Given the description of an element on the screen output the (x, y) to click on. 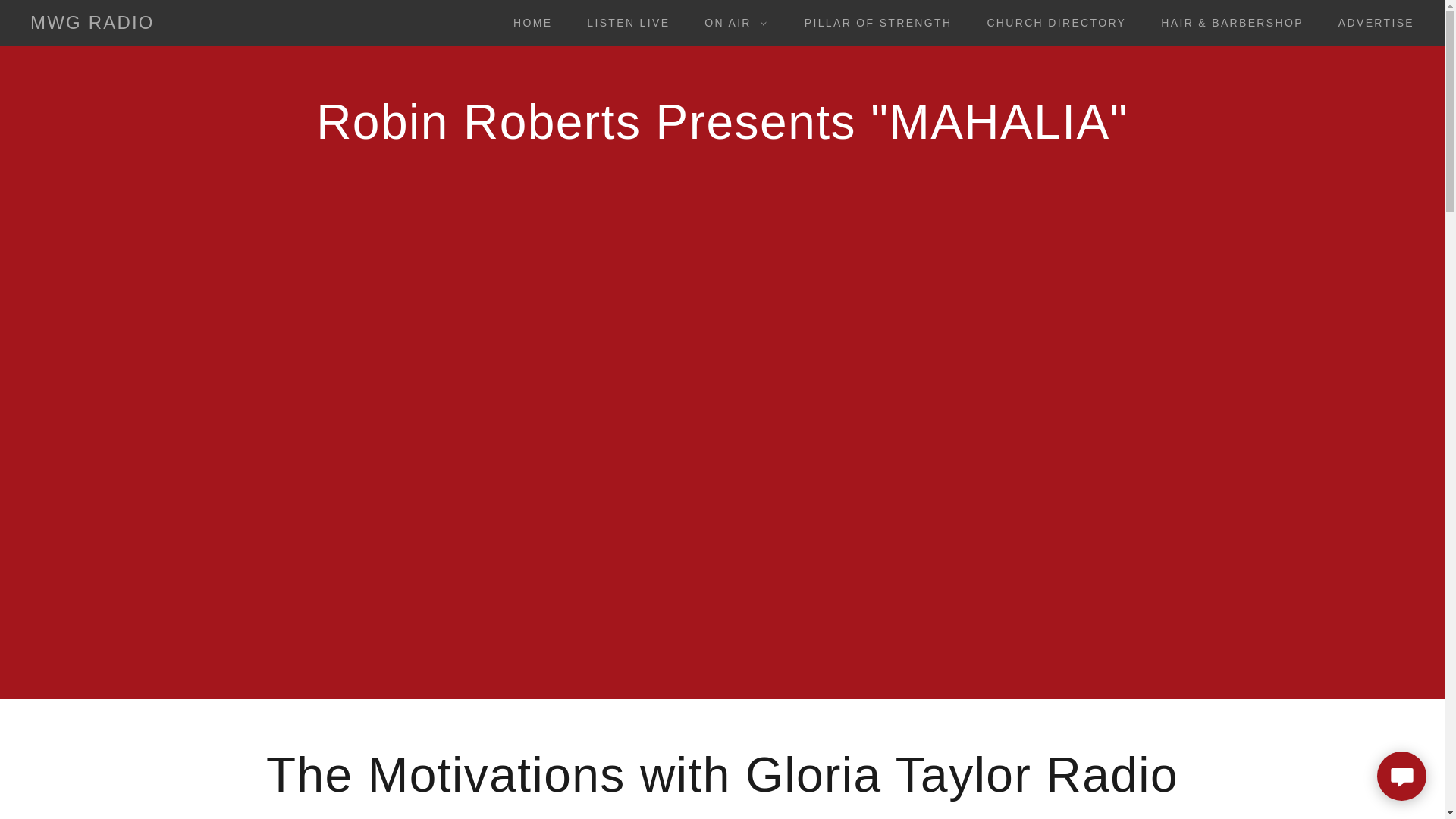
CHURCH DIRECTORY (1051, 22)
ADVERTISE (1370, 22)
ON AIR (731, 22)
MWG RADIO (92, 23)
HOME (526, 22)
MWG RADIO (92, 23)
LISTEN LIVE (623, 22)
PILLAR OF STRENGTH (872, 22)
